Given the description of an element on the screen output the (x, y) to click on. 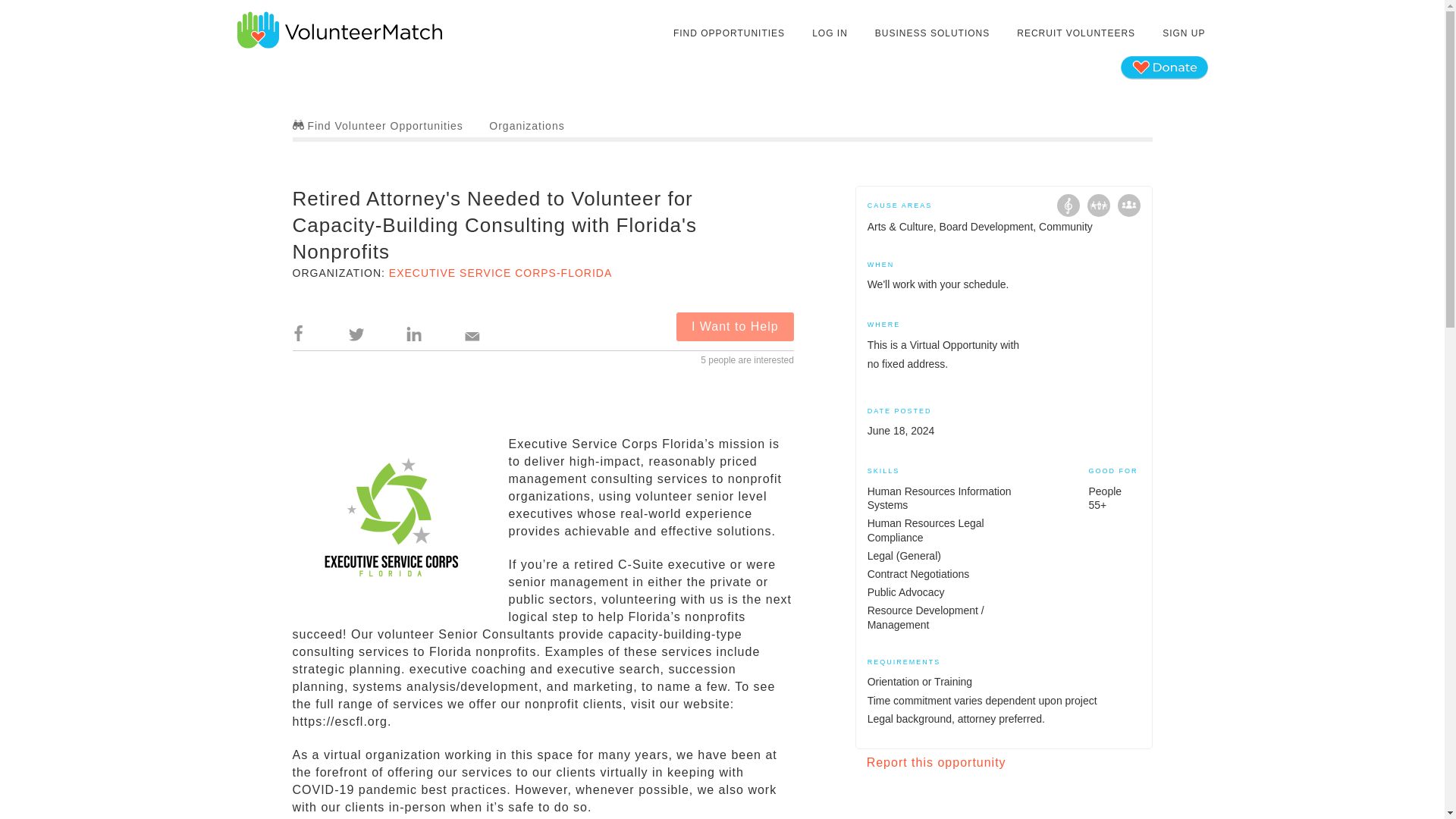
BUSINESS SOLUTIONS (931, 32)
SIGN UP (1183, 32)
Board Development (1098, 205)
I Want to Help (735, 326)
Report this opportunity (936, 762)
RECRUIT VOLUNTEERS (1075, 32)
I Want to Help (735, 326)
Find Volunteer Opportunities (377, 125)
Organizations (526, 125)
Community (1129, 205)
